Given the description of an element on the screen output the (x, y) to click on. 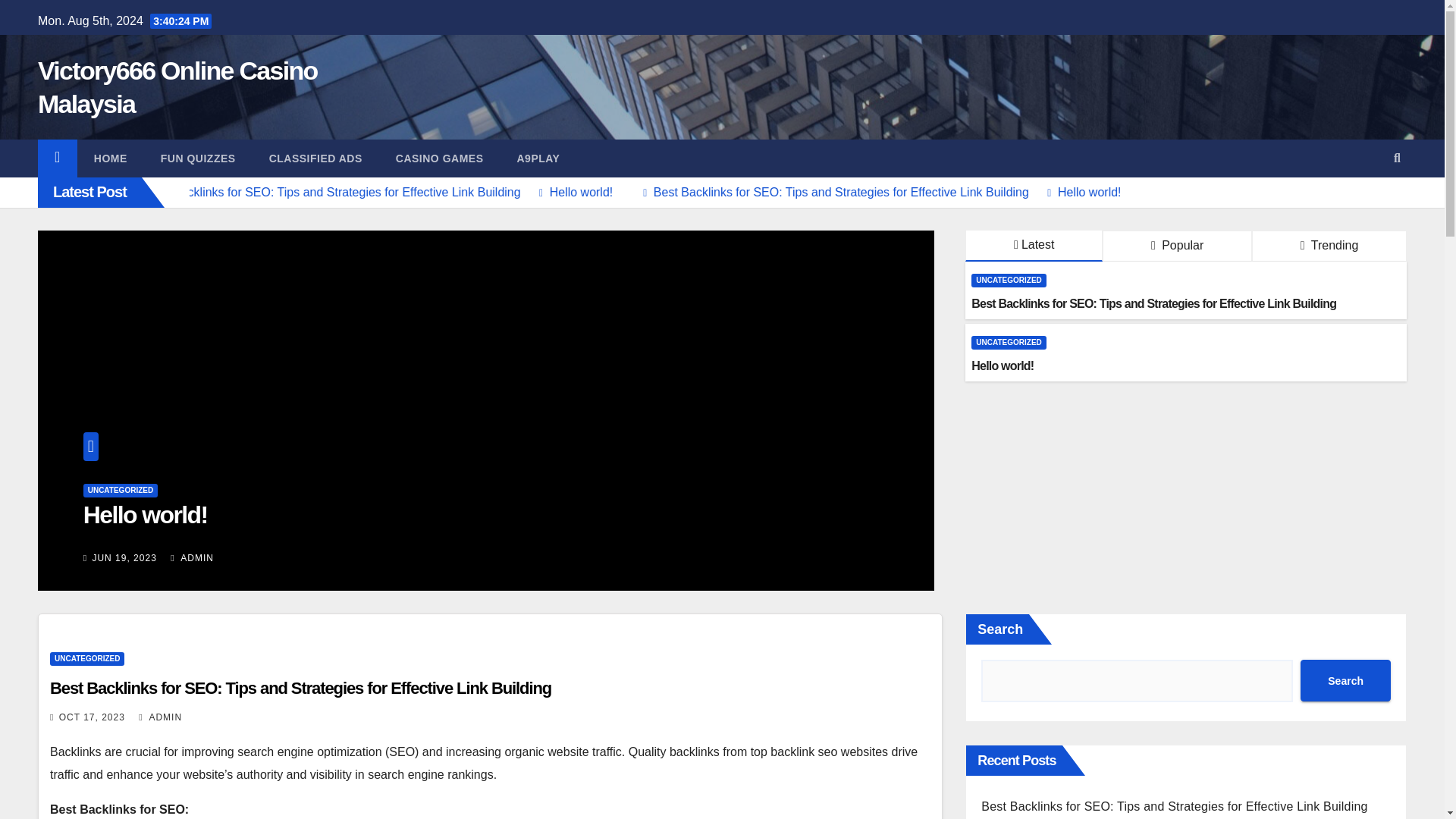
Hello world! (624, 192)
Home (110, 158)
HOME (110, 158)
ADMIN (192, 557)
CLASSIFIED ADS (314, 158)
JUN 19, 2023 (123, 557)
Casino Games (439, 158)
A9PLAY (538, 158)
FUN QUIZZES (197, 158)
Classified Ads (314, 158)
UNCATEGORIZED (1008, 280)
Fun Quizzes (197, 158)
Popular (1177, 246)
